Given the description of an element on the screen output the (x, y) to click on. 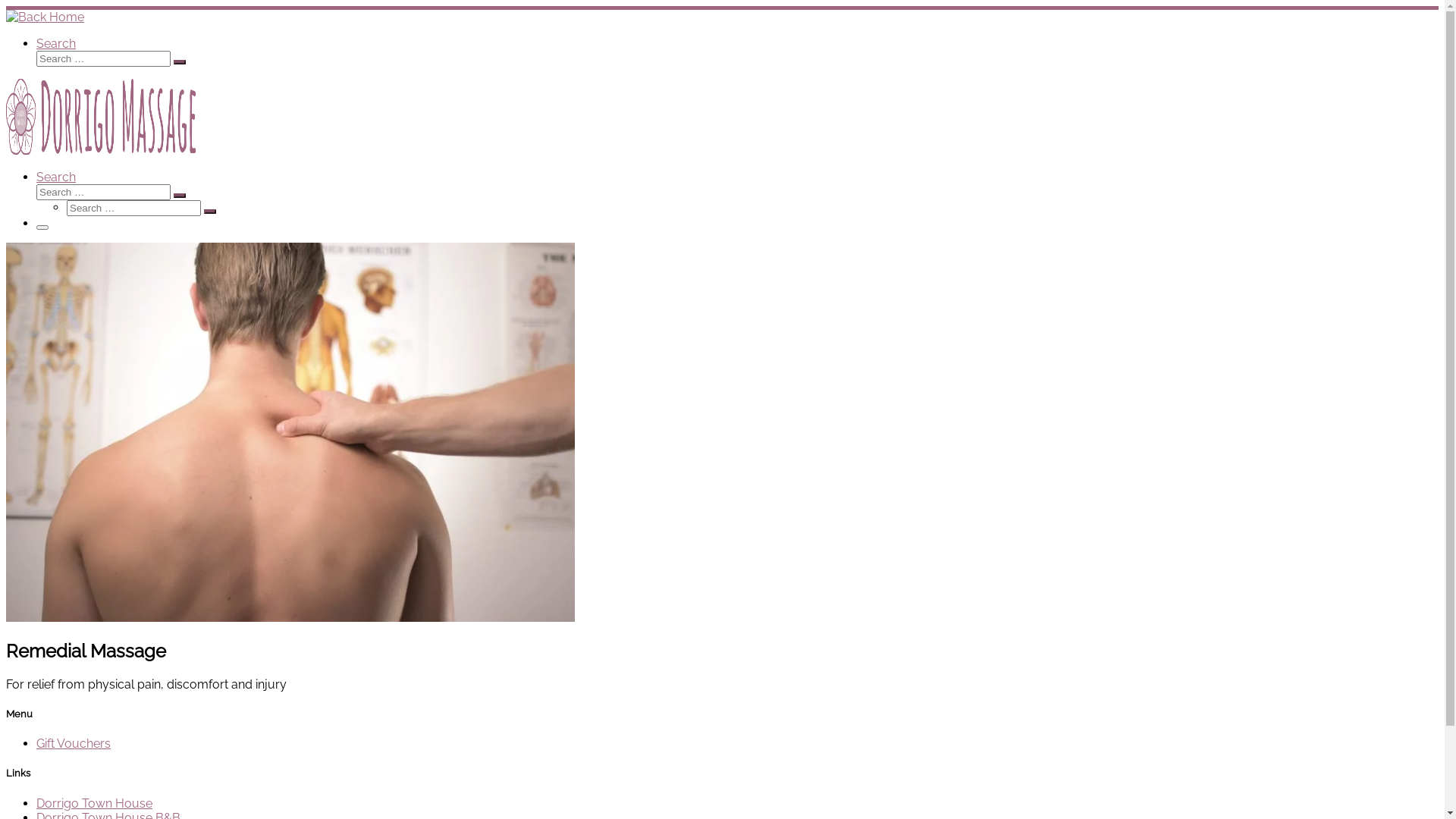
Search Element type: text (55, 176)
Gift Vouchers Element type: text (73, 743)
Search Element type: text (55, 43)
Dorrigo Town House Element type: text (94, 803)
Skip to content Element type: text (5, 5)
Menu Element type: text (42, 227)
